Given the description of an element on the screen output the (x, y) to click on. 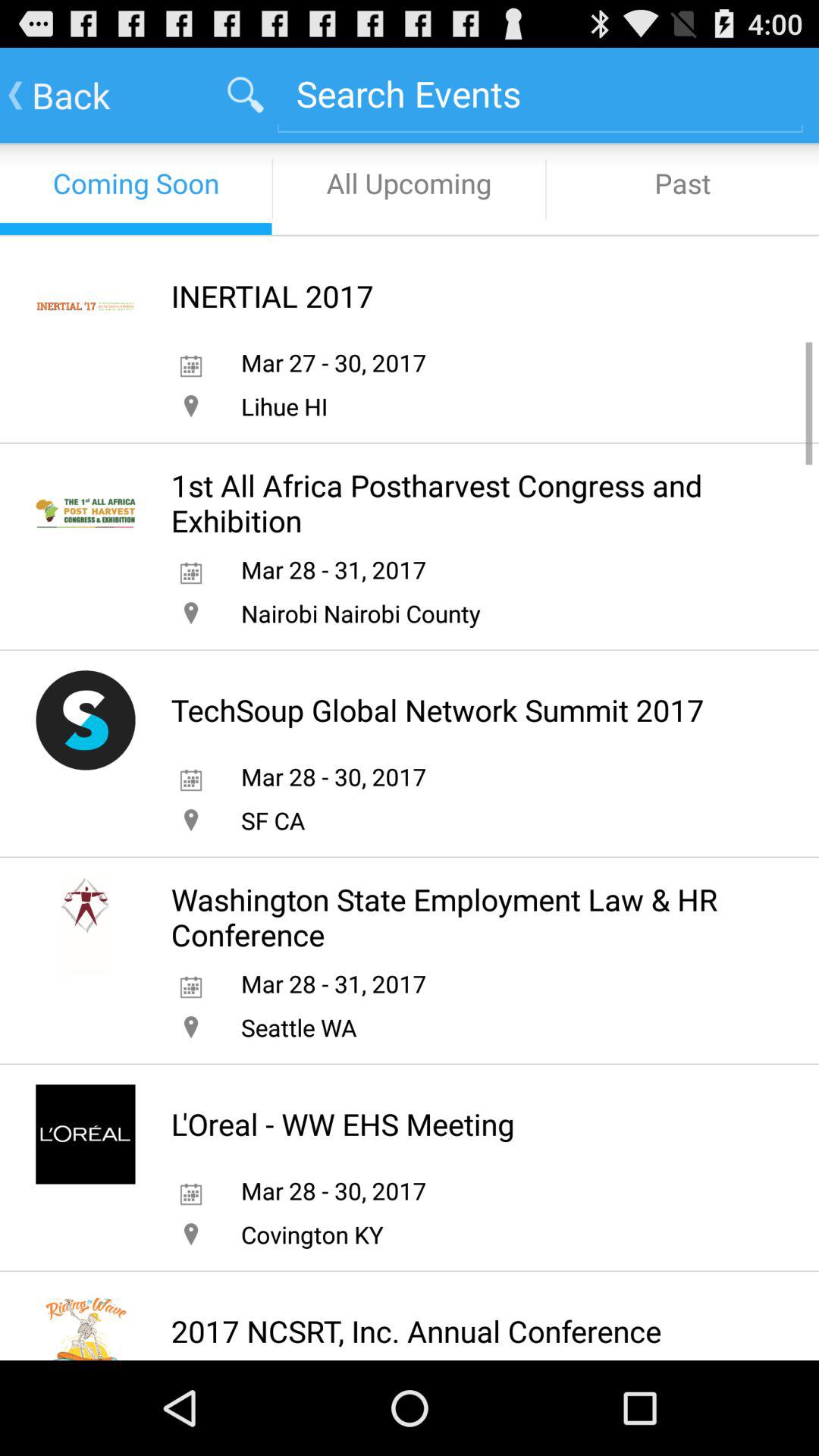
choose the washington state employment app (463, 916)
